Given the description of an element on the screen output the (x, y) to click on. 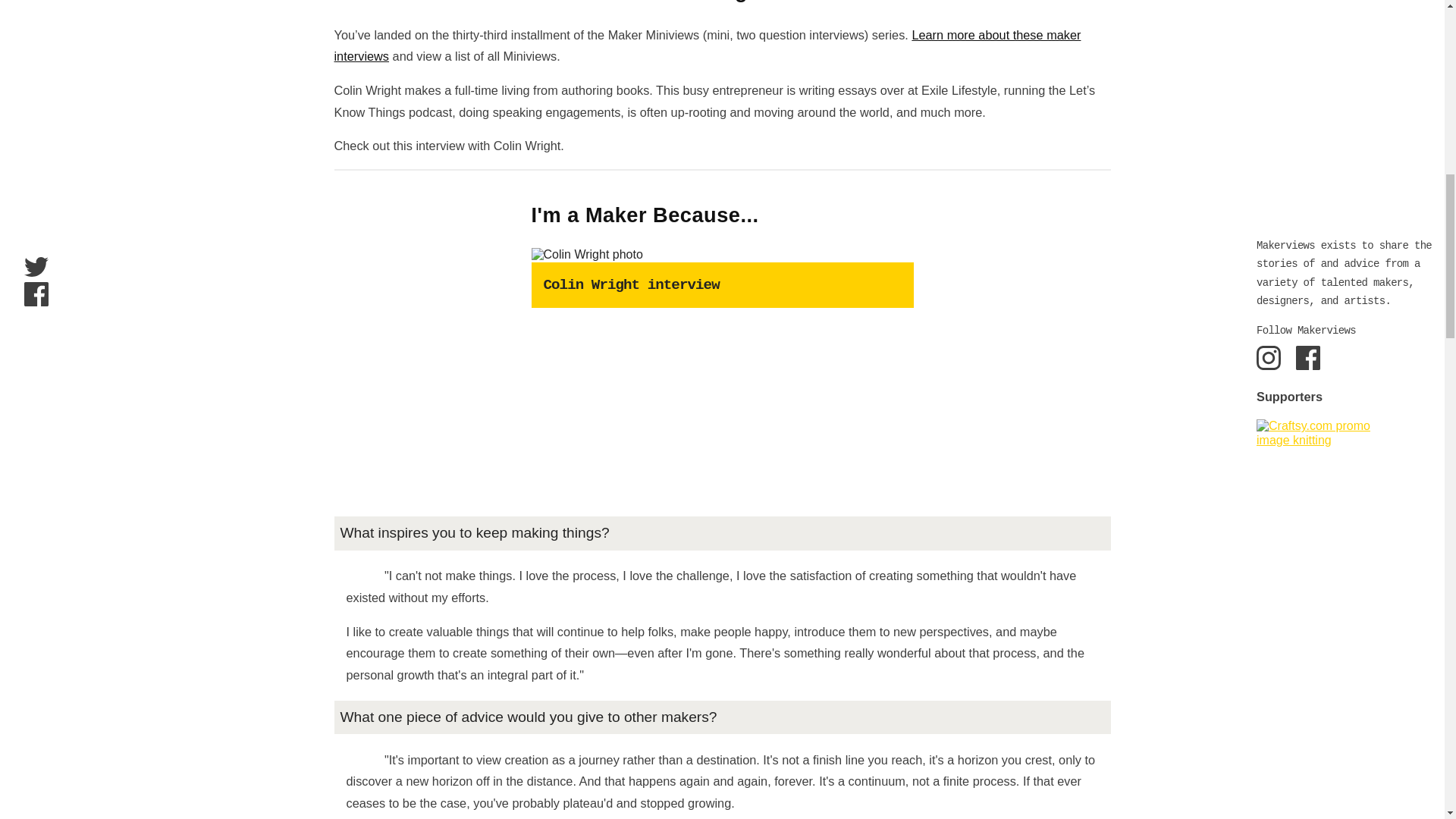
Maker mini interviews (706, 45)
Instagram (1268, 357)
Learn more about these maker interviews (706, 45)
